Given the description of an element on the screen output the (x, y) to click on. 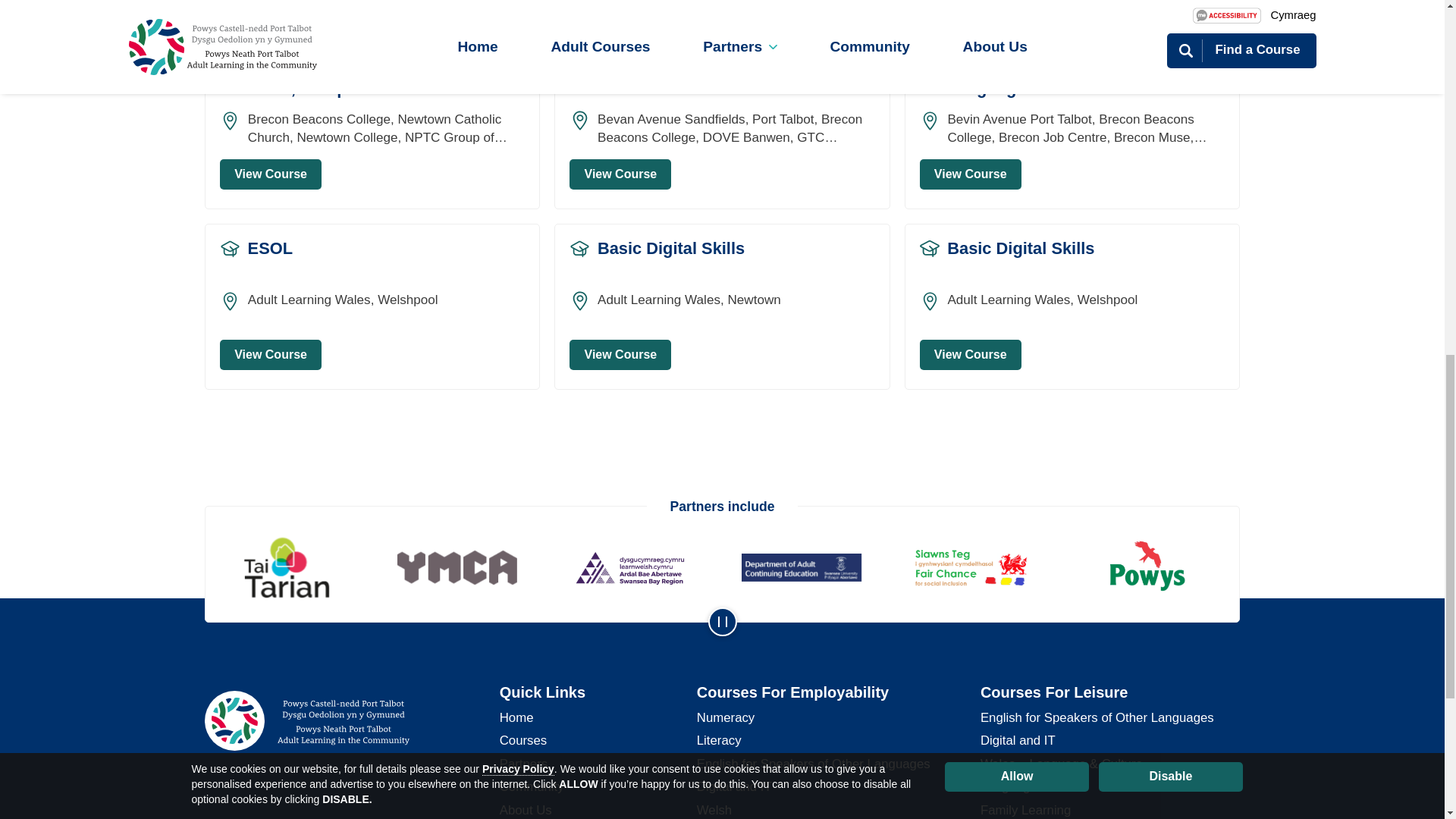
Link to Department of Adult Continuing Edication (807, 567)
Link to Fair Chance (980, 567)
Link to Powys (1152, 567)
Link to Tai Tarian (291, 567)
Link to Ardal Bae Abertawe (636, 567)
Link to YMCA (463, 567)
